Given the description of an element on the screen output the (x, y) to click on. 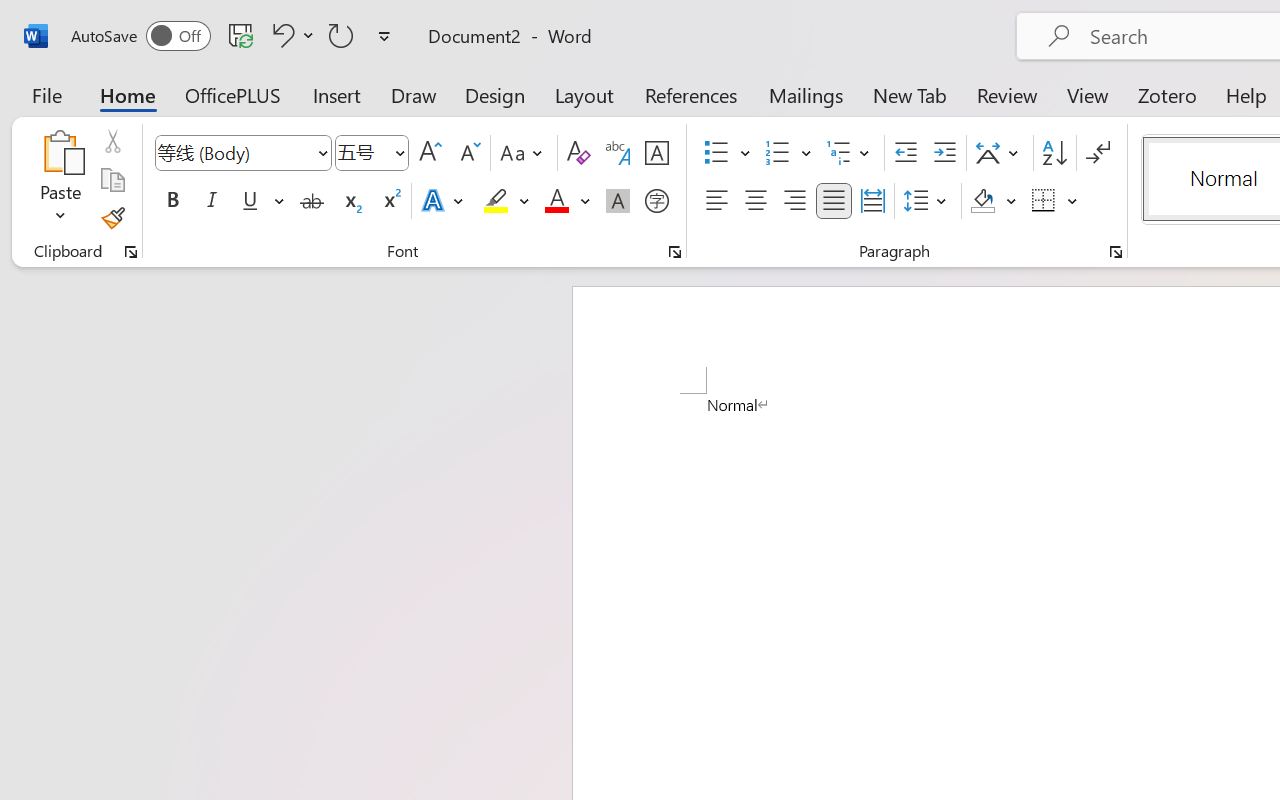
Sort... (1054, 153)
Format Painter (112, 218)
